Given the description of an element on the screen output the (x, y) to click on. 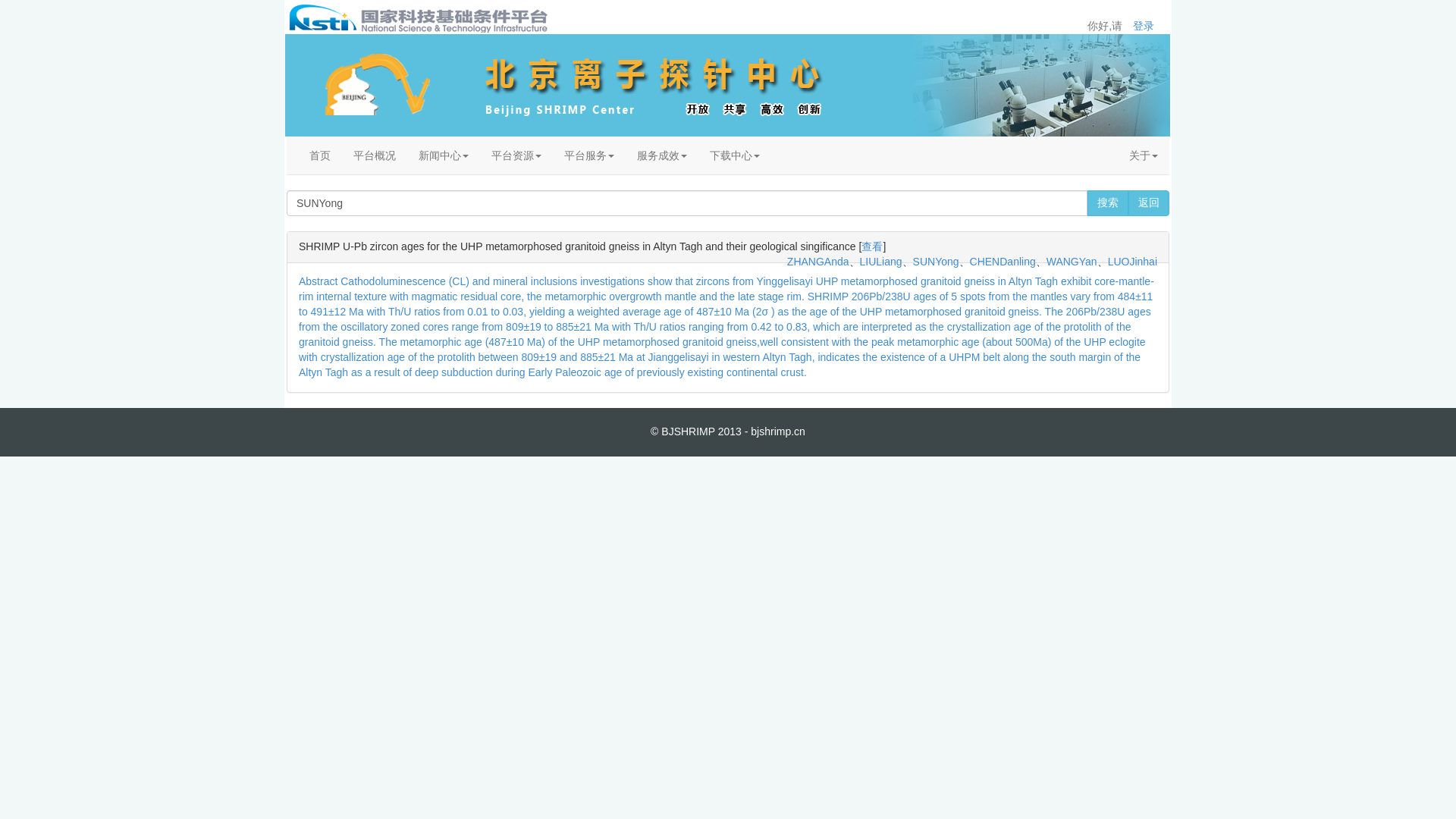
SUNYong (686, 203)
LIULiang (881, 261)
WANGYan (1071, 261)
LUOJinhai (1132, 261)
SUNYong (935, 261)
ZHANGAnda (817, 261)
CHENDanling (1002, 261)
